Given the description of an element on the screen output the (x, y) to click on. 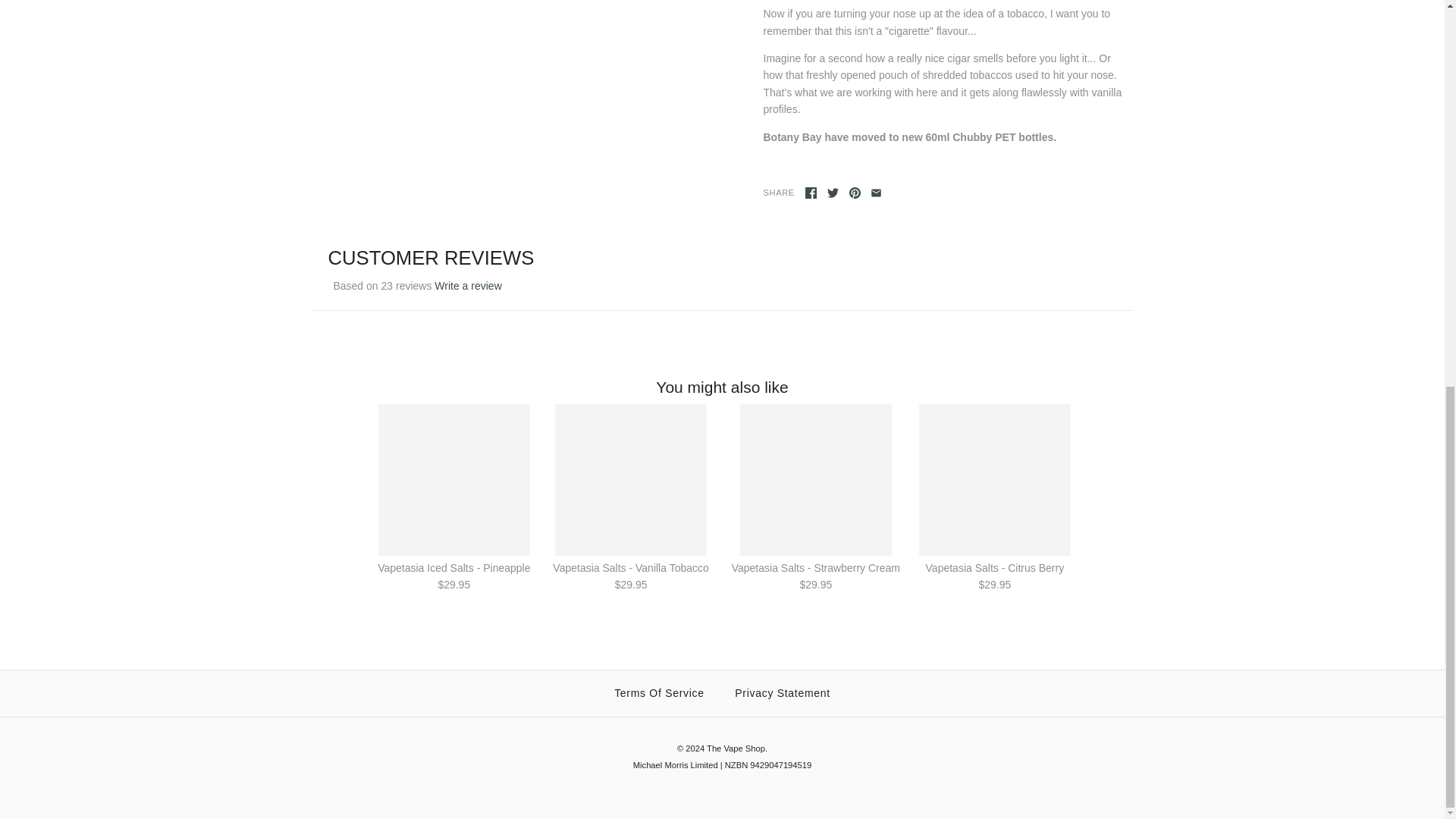
Twitter (832, 193)
Share on Twitter (832, 193)
Email (876, 193)
Facebook (810, 193)
Pin the main image (854, 193)
Share using email (876, 193)
Pinterest (854, 193)
Share on Facebook (810, 193)
